Given the description of an element on the screen output the (x, y) to click on. 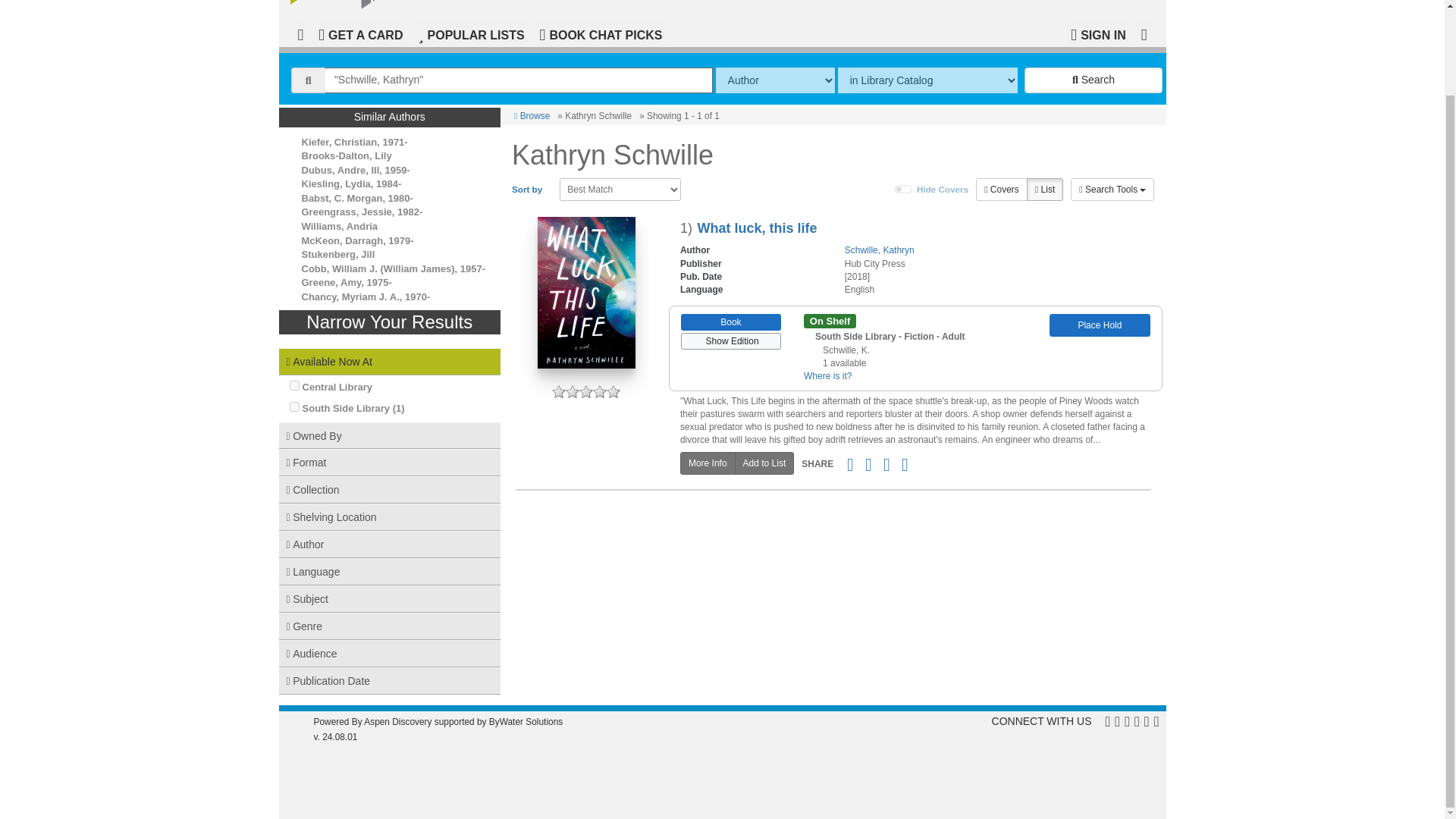
Kiesling, Lydia, 1984- (351, 183)
Greengrass, Jessie, 1982- (362, 211)
The method of searching. (775, 80)
Dubus, Andre, III, 1959- (355, 170)
SIGN IN (1098, 32)
Kiefer, Christian, 1971- (354, 142)
Stukenberg, Jill (338, 254)
 Search (1093, 80)
Brooks-Dalton, Lily (346, 155)
Login (1098, 32)
